Given the description of an element on the screen output the (x, y) to click on. 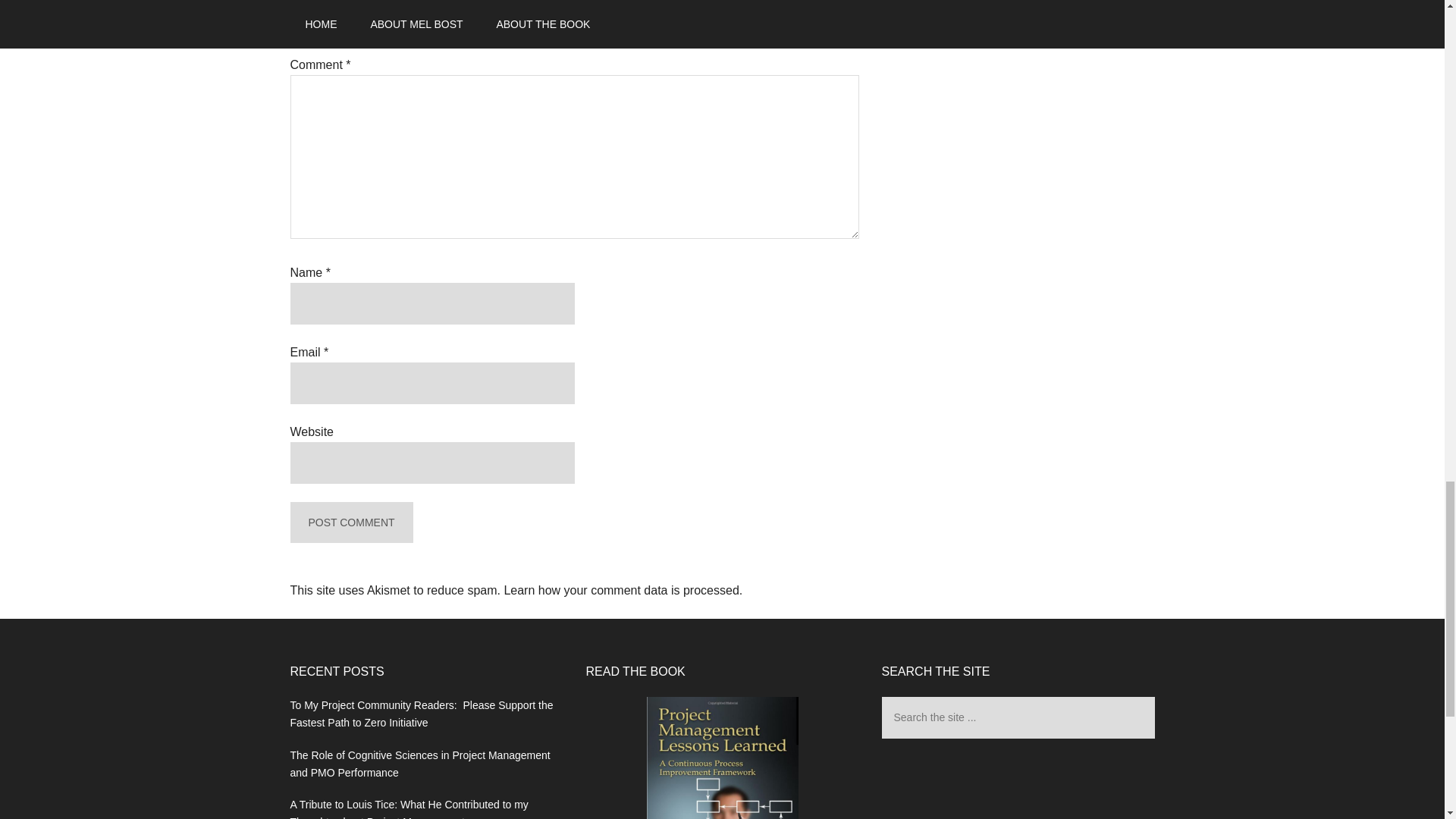
Post Comment (350, 522)
Post Comment (350, 522)
Learn how your comment data is processed (620, 590)
